Given the description of an element on the screen output the (x, y) to click on. 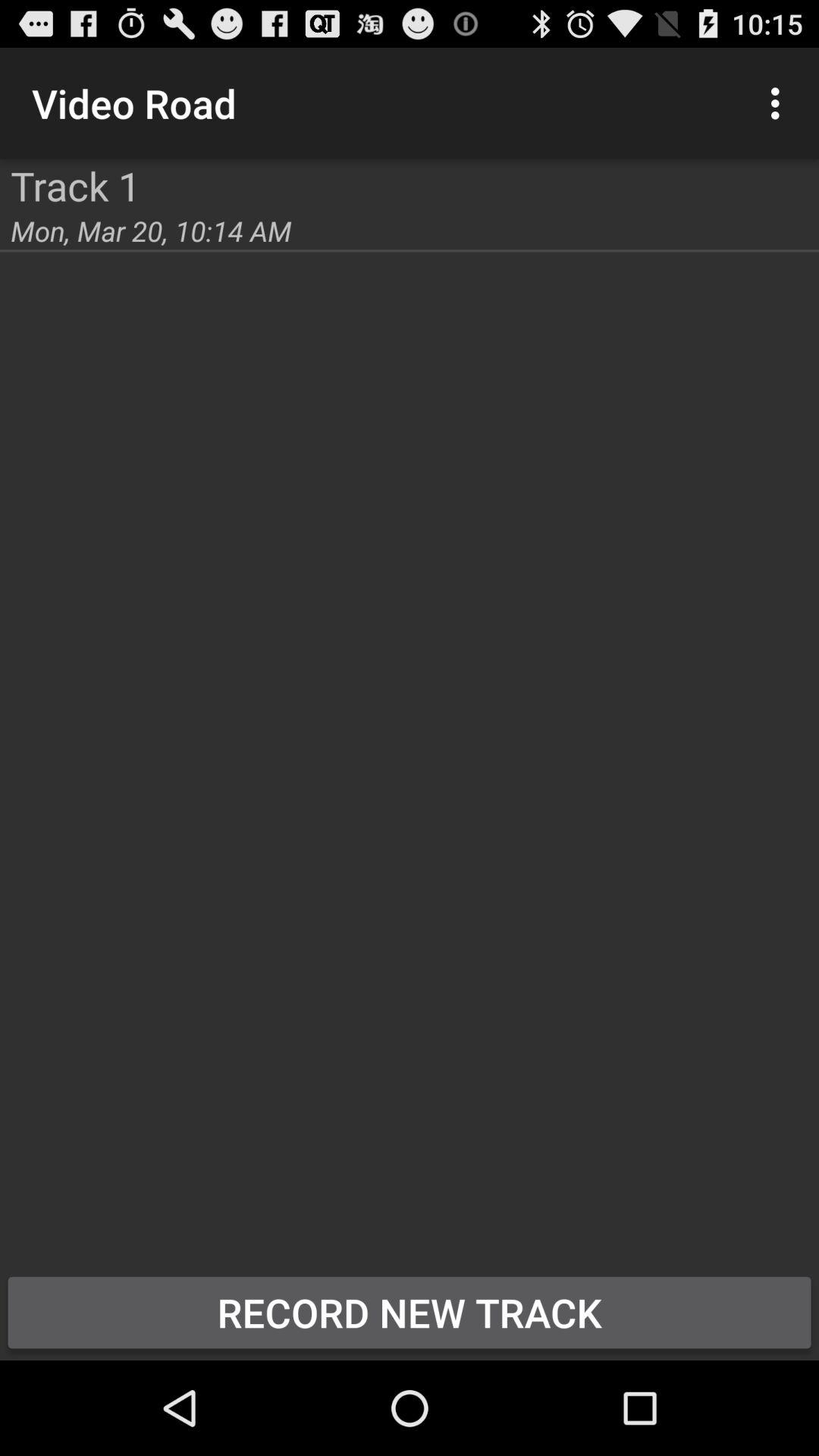
swipe to the record new track item (409, 1312)
